Given the description of an element on the screen output the (x, y) to click on. 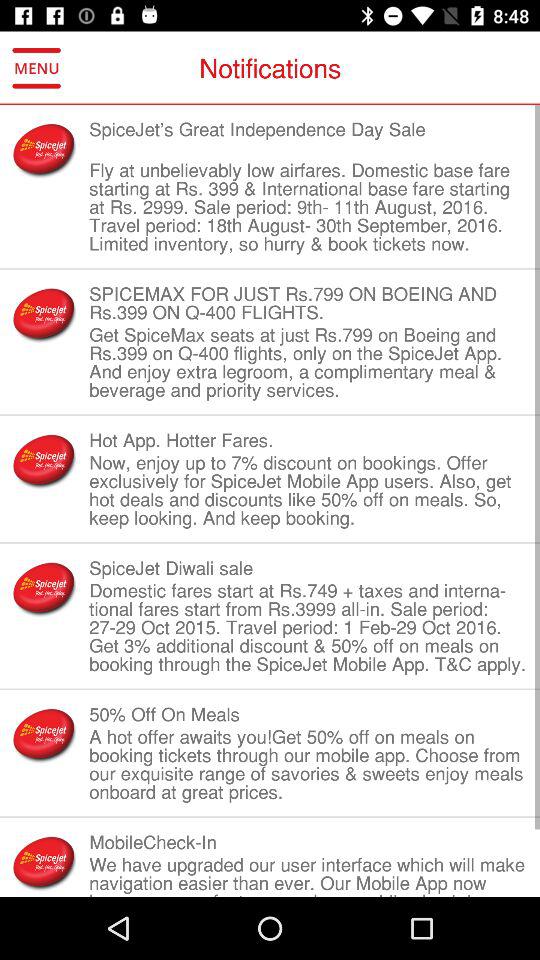
launch icon to the left of notifications item (36, 68)
